Given the description of an element on the screen output the (x, y) to click on. 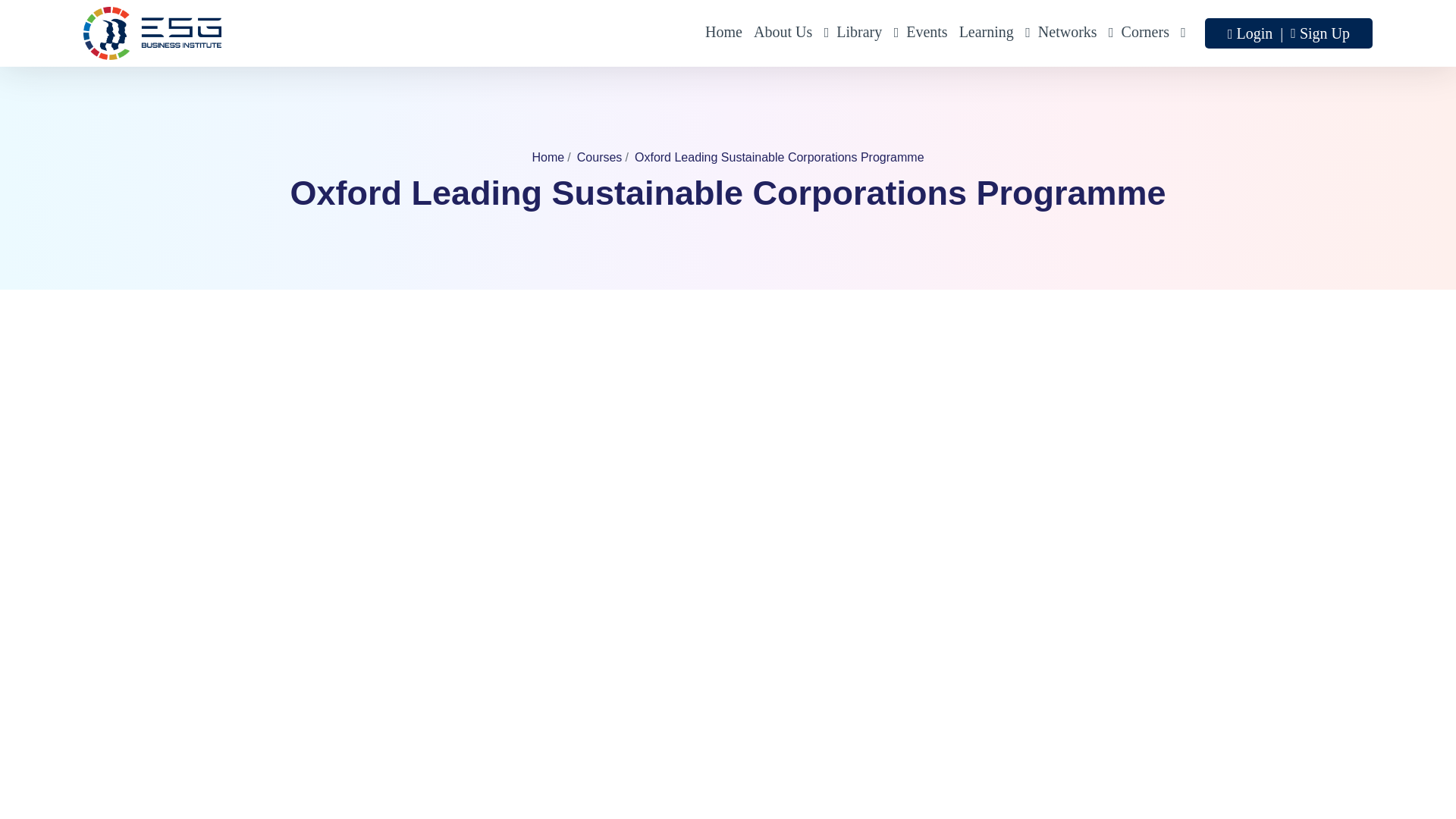
Corners (1151, 33)
Login (1256, 33)
Sign Up (1324, 33)
Home (723, 33)
Learning (992, 33)
Oxford Leading Sustainable Corporations Programme (779, 156)
About Us (789, 33)
Networks (1073, 33)
Library (865, 33)
Events (926, 33)
